Given the description of an element on the screen output the (x, y) to click on. 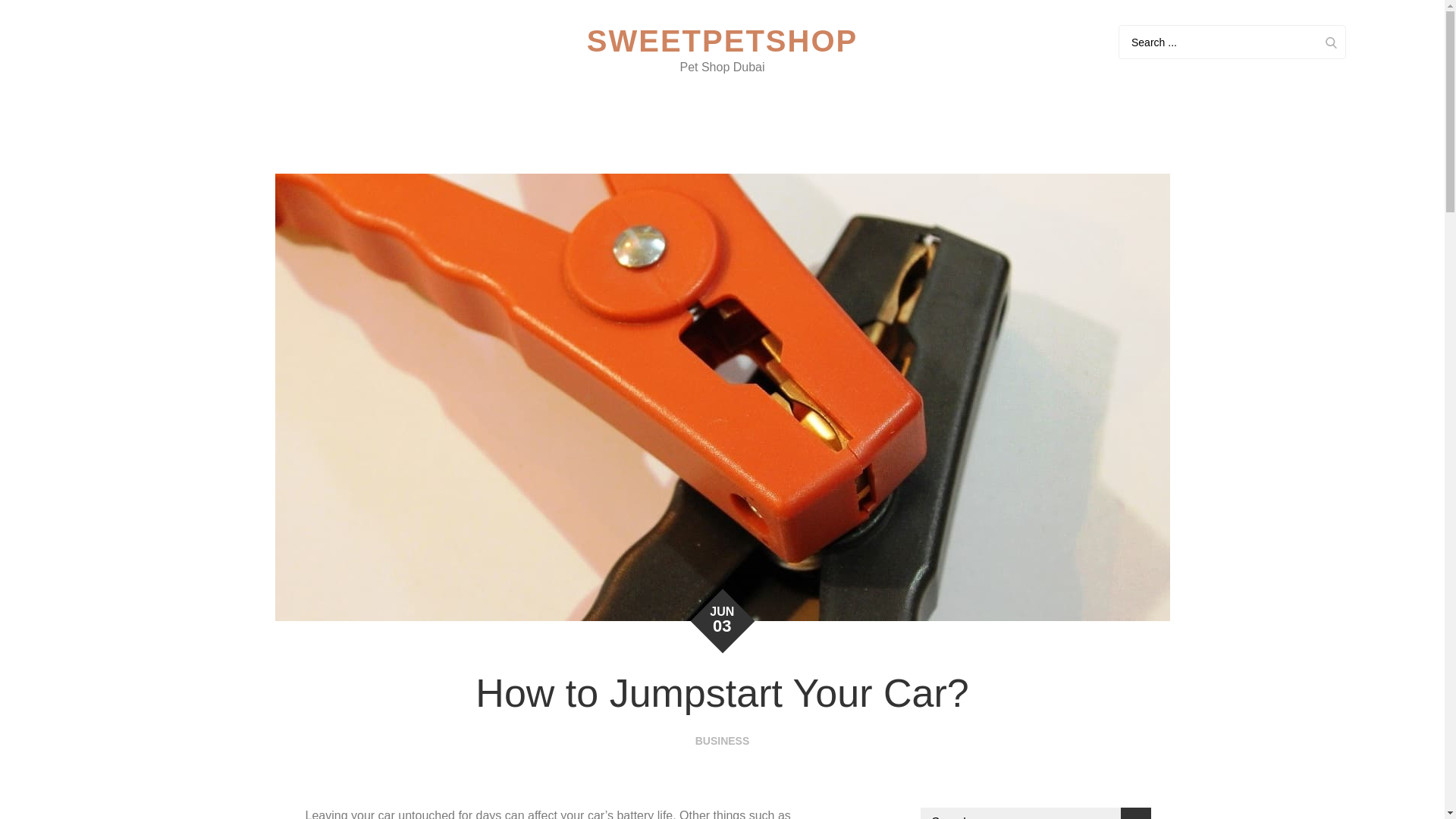
BUSINESS (722, 740)
Search (1136, 813)
Search for: (1035, 813)
SWEETPETSHOP (721, 40)
Search for: (1231, 41)
Search (1330, 41)
